Given the description of an element on the screen output the (x, y) to click on. 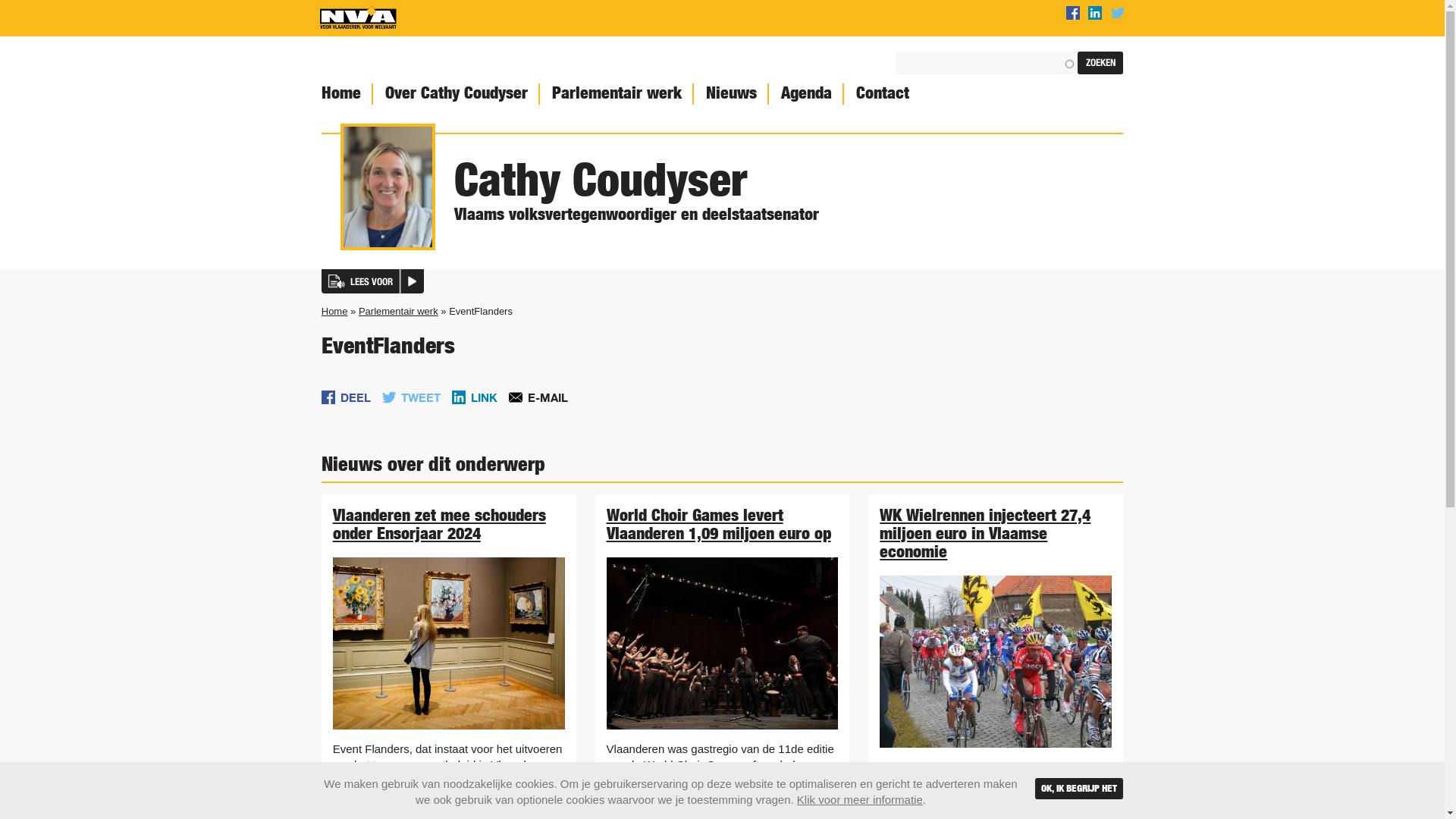
Zoeken Element type: text (1100, 62)
Parlementair werk Element type: text (615, 93)
World Choir Games levert Vlaanderen 1,09 miljoen euro op Element type: text (718, 523)
Klik voor meer informatie Element type: text (859, 799)
Home Element type: text (340, 93)
Contact Element type: text (880, 93)
LINK Element type: text (474, 396)
LEES VOOR Element type: text (372, 280)
Nieuws Element type: text (729, 93)
DEEL Element type: text (345, 396)
Home Element type: text (334, 310)
Home Element type: hover (357, 17)
Vlaanderen zet mee schouders onder Ensorjaar 2024 Element type: text (439, 523)
OK, IK BEGRIJP HET Element type: text (1079, 788)
Over Cathy Coudyser Element type: text (454, 93)
Parlementair werk Element type: text (398, 310)
TWEET Element type: text (411, 396)
Geef de woorden op waarnaar u wilt zoeken. Element type: hover (986, 62)
E-MAIL Element type: text (537, 396)
Agenda Element type: text (804, 93)
